Given the description of an element on the screen output the (x, y) to click on. 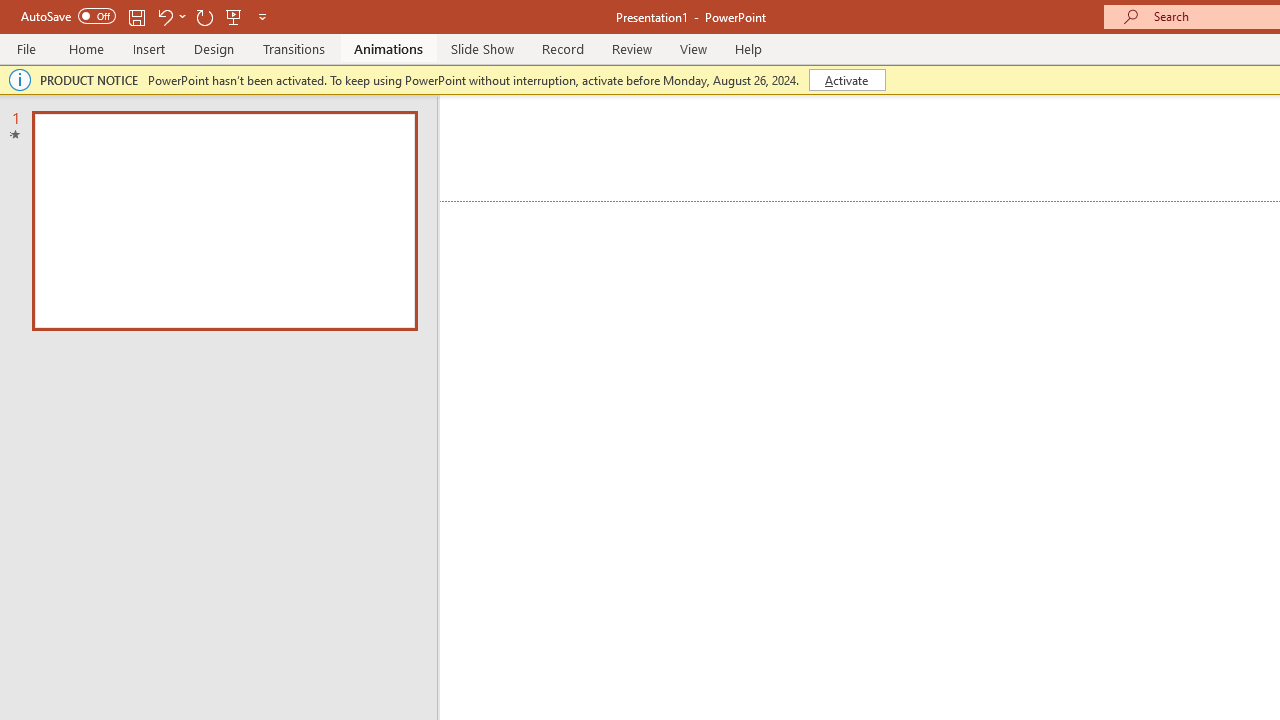
Font... (675, 226)
Align Left (716, 180)
Grow Font (430, 137)
Help (1013, 84)
Open (399, 137)
